Given the description of an element on the screen output the (x, y) to click on. 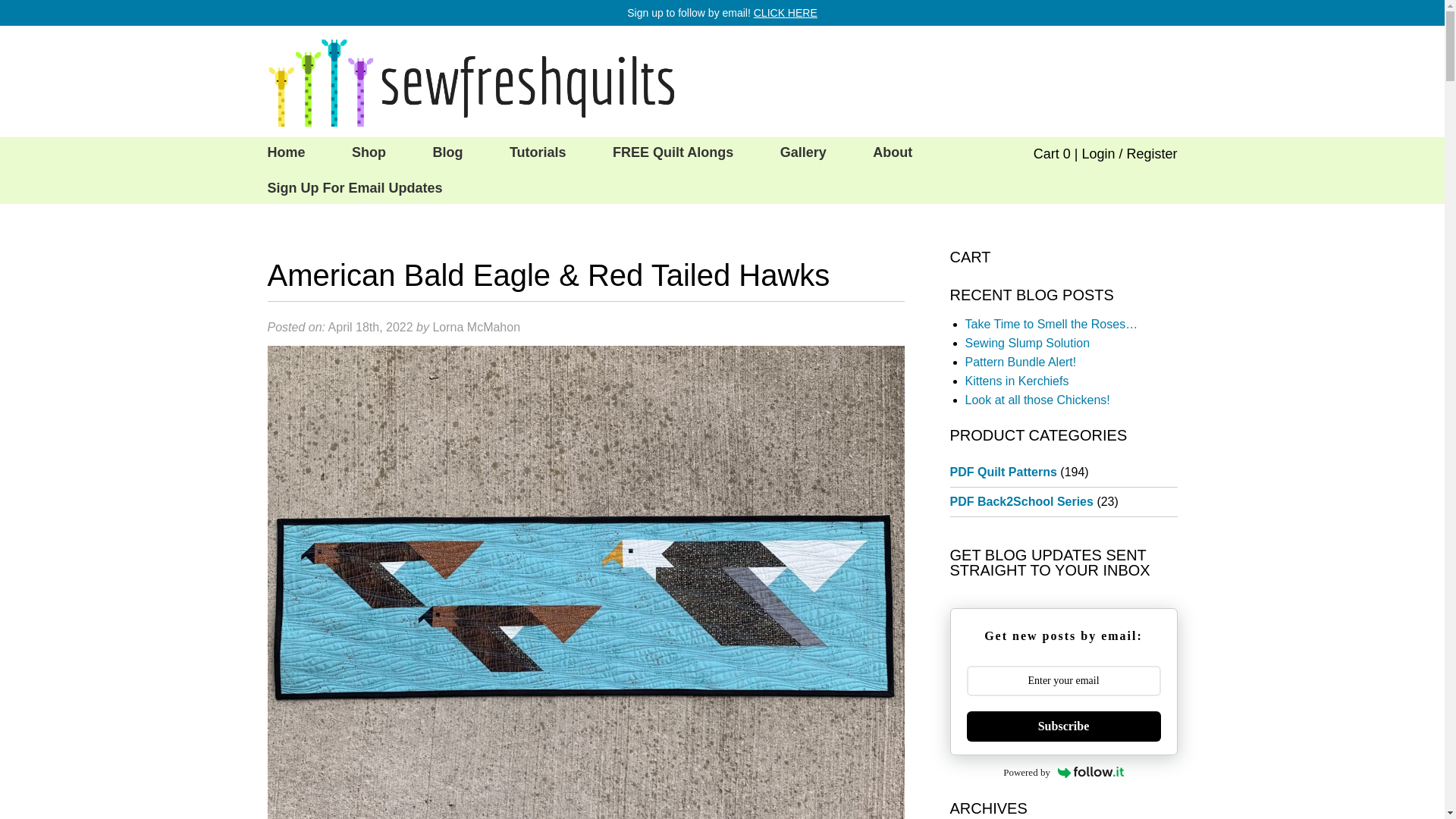
Home (285, 152)
Cart 0 (1051, 153)
Look at all those Chickens! (1036, 399)
Blog (446, 152)
PDF Back2School Series (1021, 501)
Shop (369, 152)
Gallery (802, 152)
Subscribe (1063, 726)
Tutorials (537, 152)
FREE Quilt Alongs (672, 152)
